Given the description of an element on the screen output the (x, y) to click on. 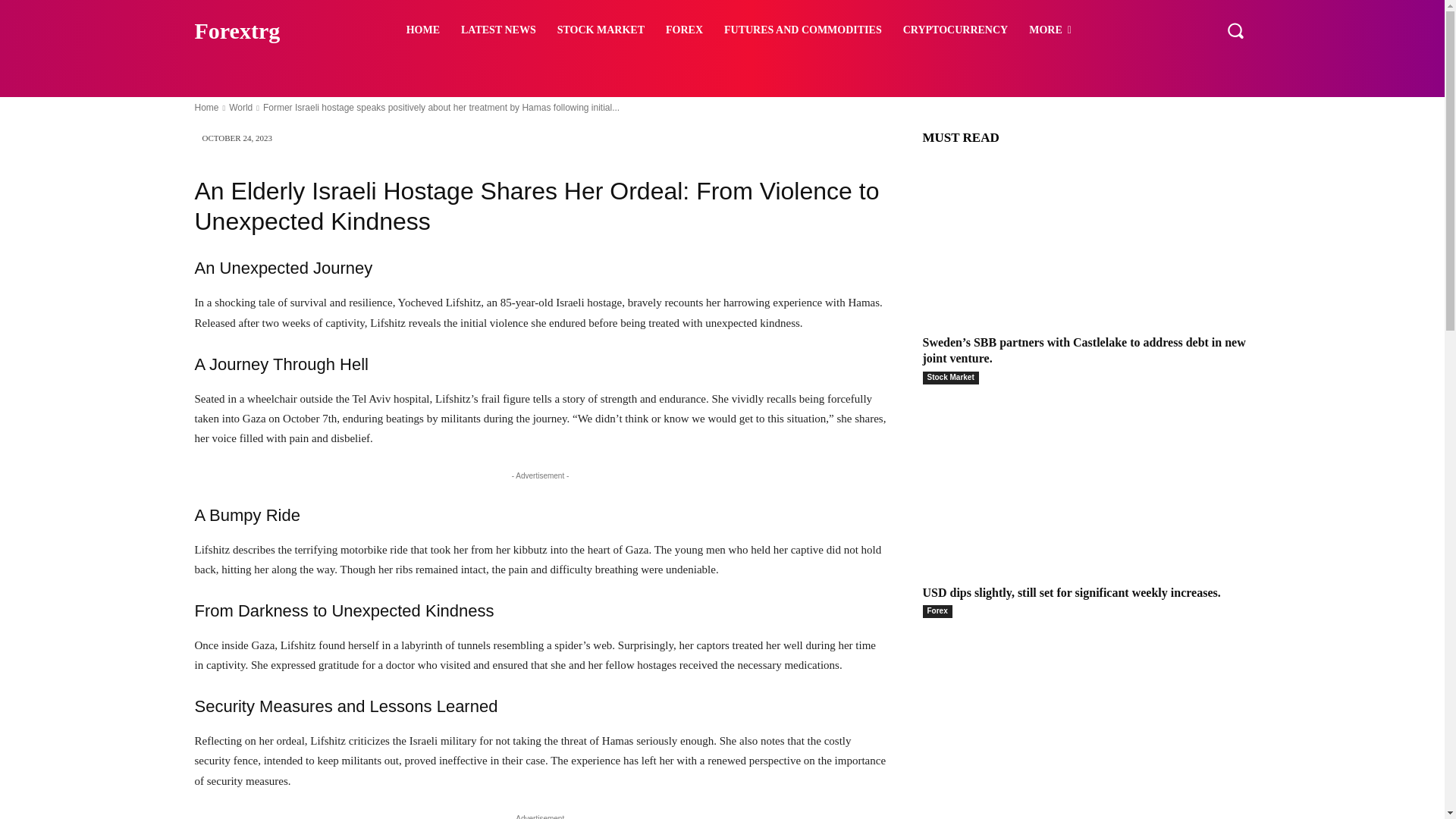
View all posts in World (239, 107)
CRYPTOCURRENCY (954, 30)
HOME (422, 30)
Home (205, 107)
FOREX (684, 30)
LATEST NEWS (498, 30)
FUTURES AND COMMODITIES (802, 30)
World (239, 107)
Forextrg (273, 30)
STOCK MARKET (601, 30)
